Given the description of an element on the screen output the (x, y) to click on. 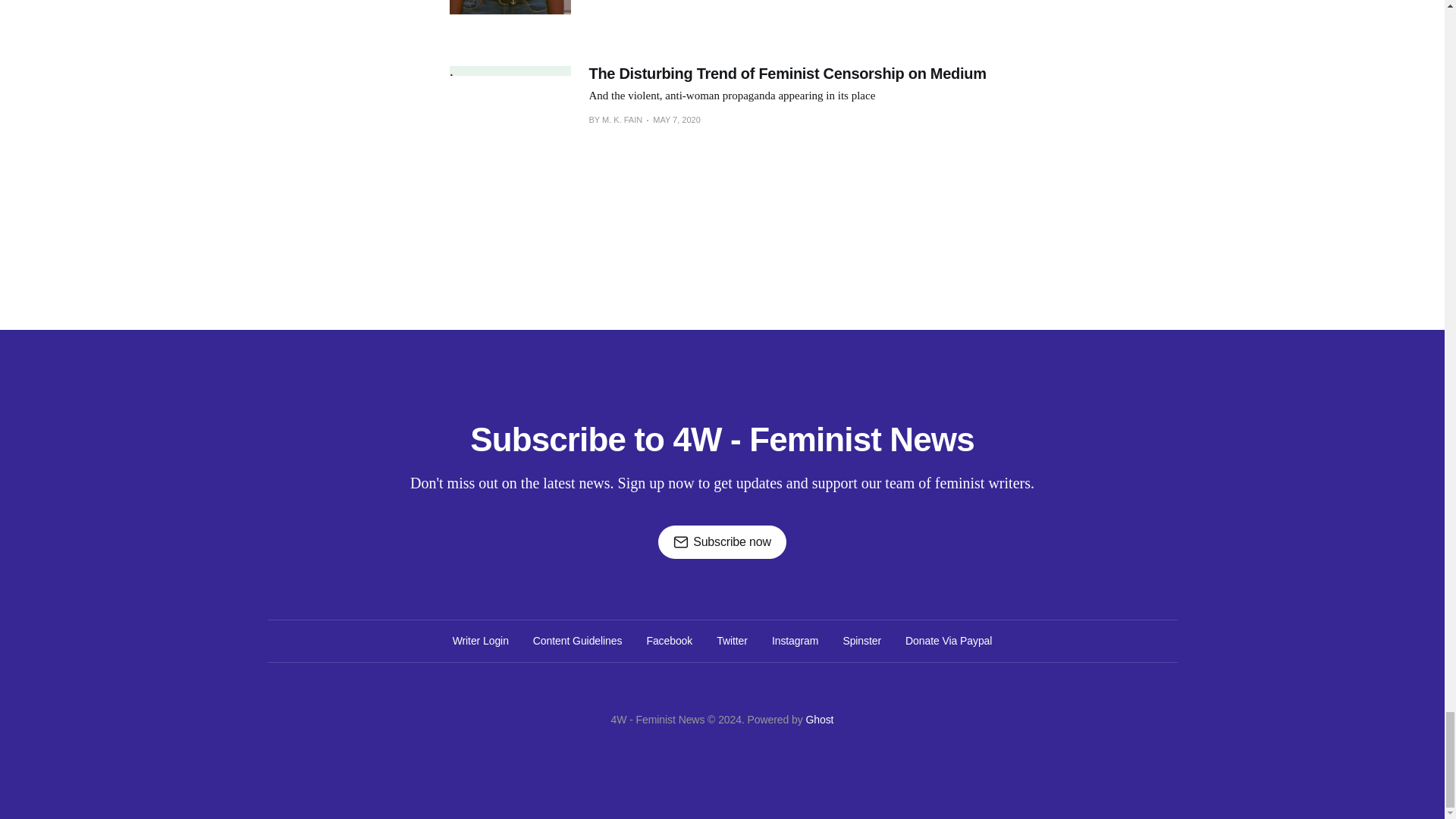
Writer Login (480, 640)
Facebook (669, 640)
Spinster (861, 640)
Twitter (732, 640)
Instagram (794, 640)
Donate Via Paypal (948, 640)
Content Guidelines (577, 640)
Subscribe now (722, 541)
Ghost (818, 719)
